Given the description of an element on the screen output the (x, y) to click on. 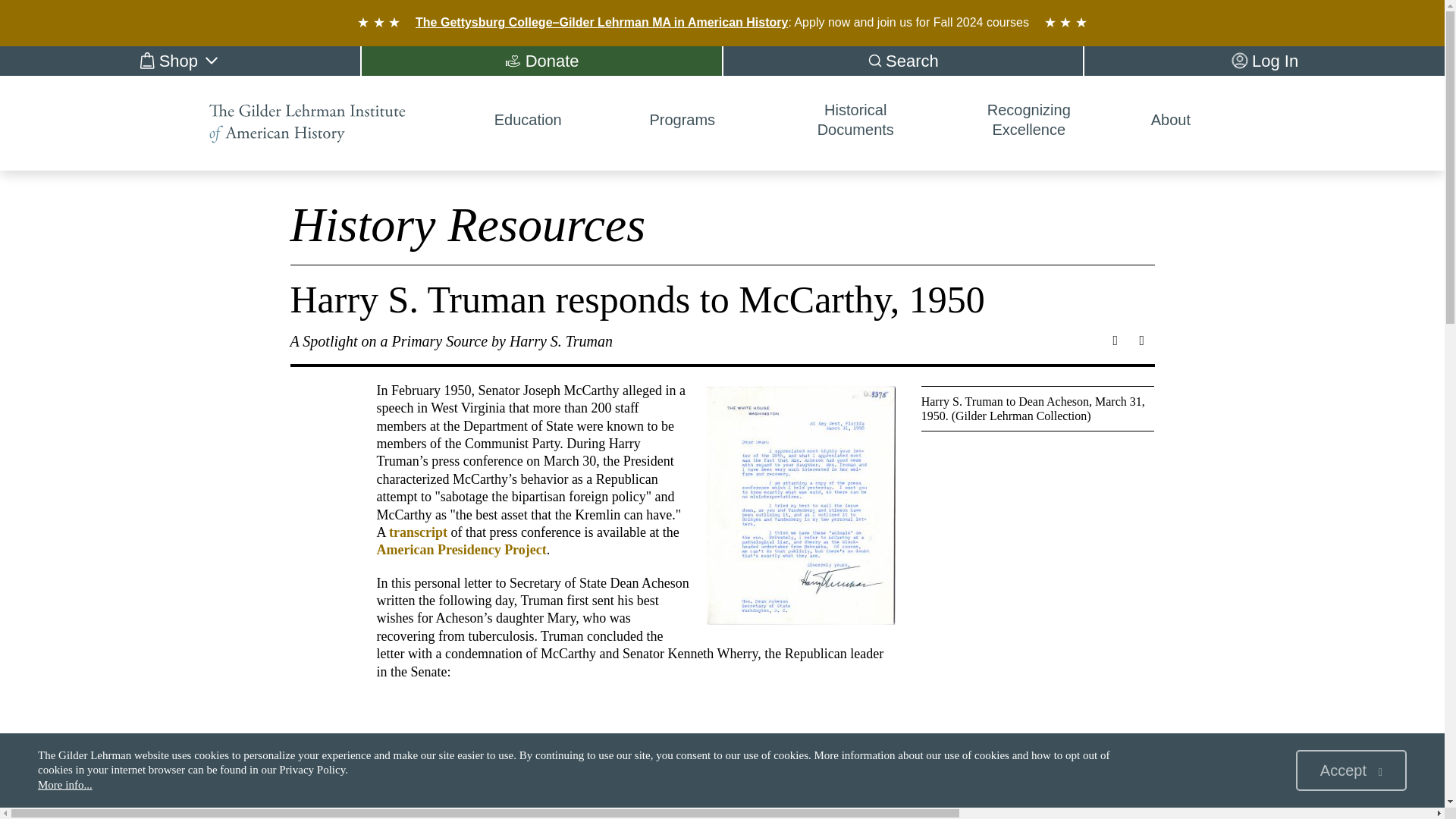
The Gilder Lehrman Institute of American History (319, 123)
Shop (179, 60)
Search (903, 60)
The Gilder Lehrman Institute of American History (308, 122)
Donate (541, 60)
